Given the description of an element on the screen output the (x, y) to click on. 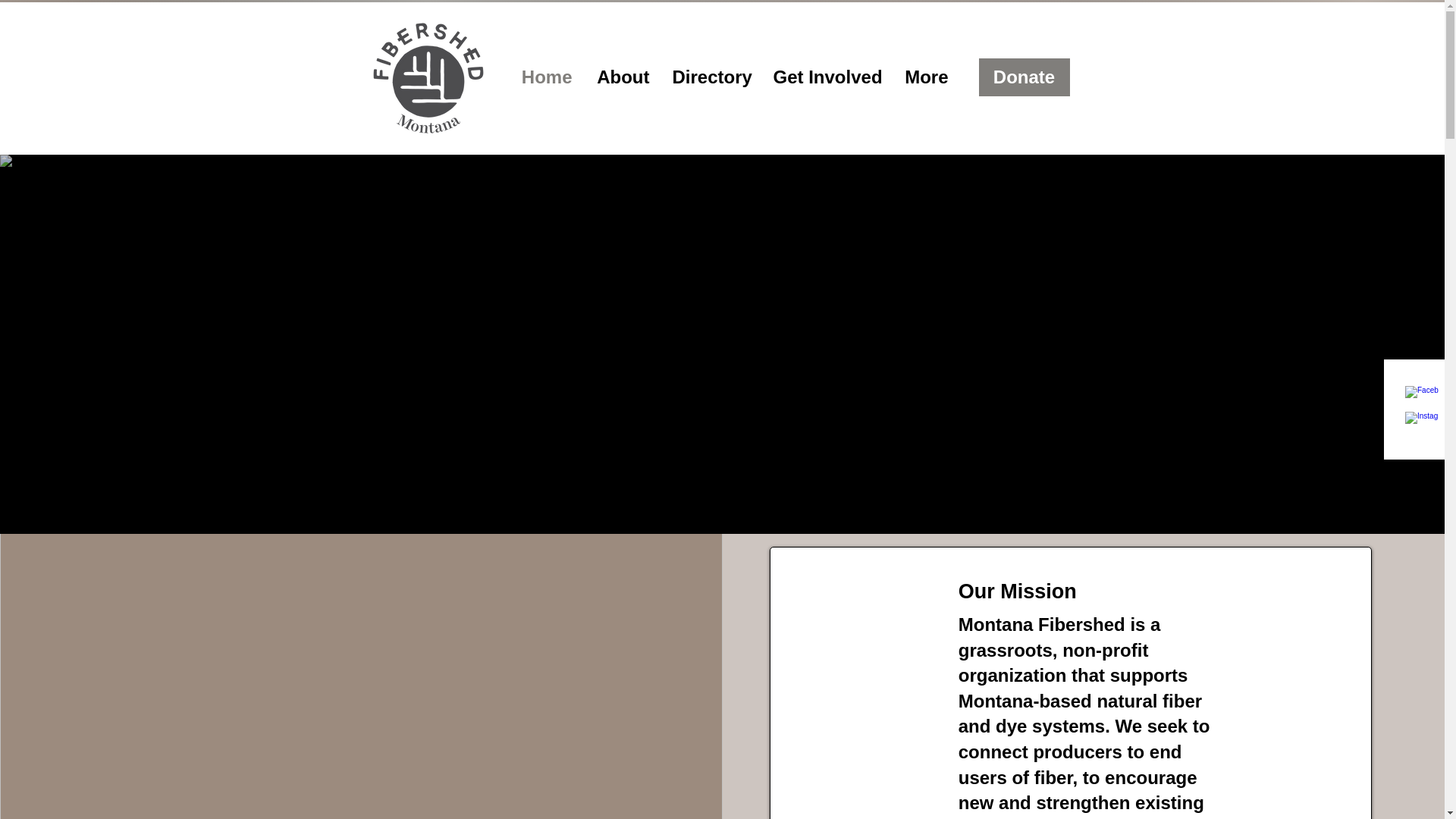
Get Involved (825, 77)
Directory (711, 77)
Donate (1023, 77)
Home (545, 77)
About (622, 77)
